Given the description of an element on the screen output the (x, y) to click on. 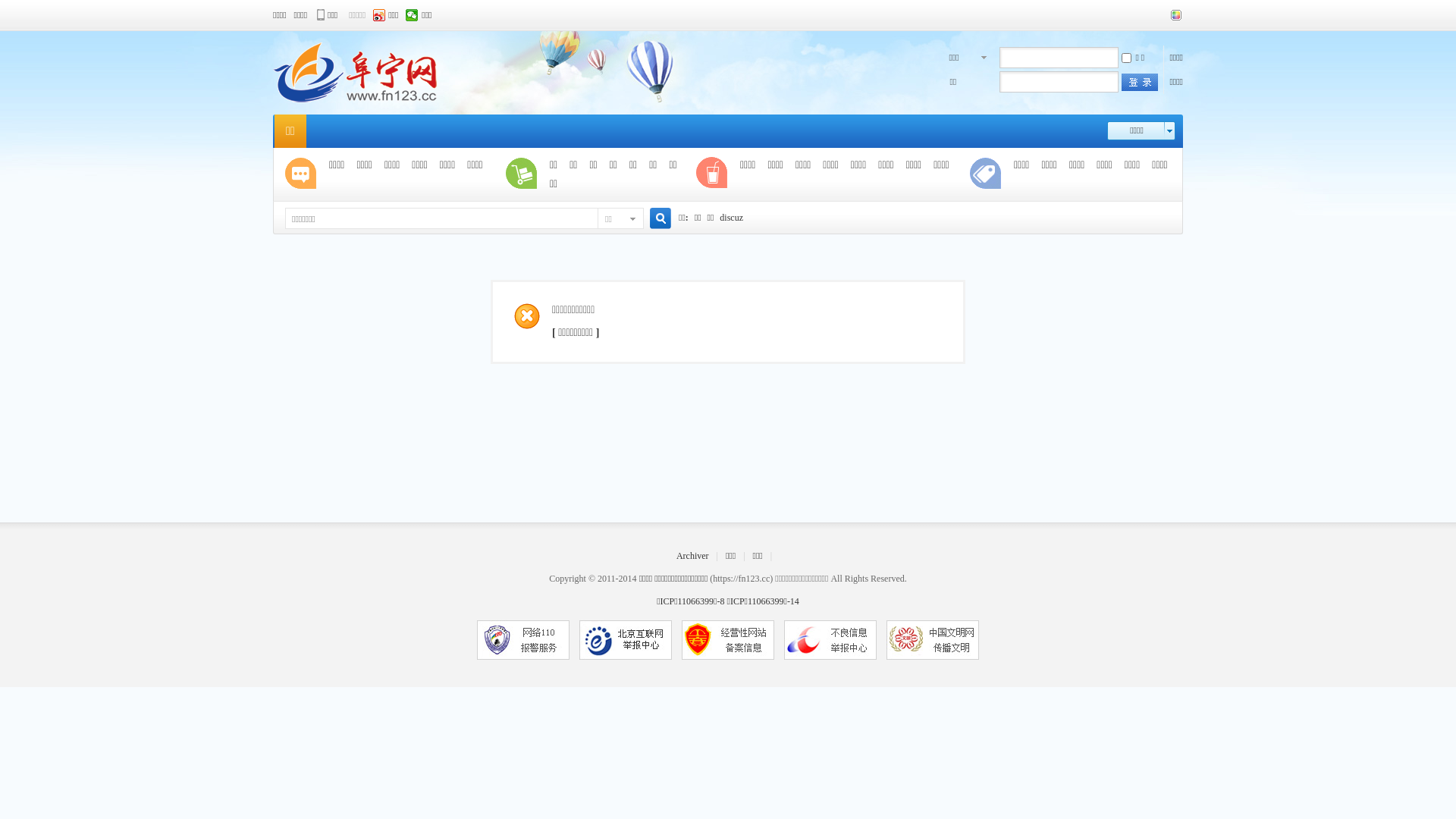
discuz Element type: text (731, 217)
     Element type: text (1139, 81)
Archiver Element type: text (692, 555)
